Given the description of an element on the screen output the (x, y) to click on. 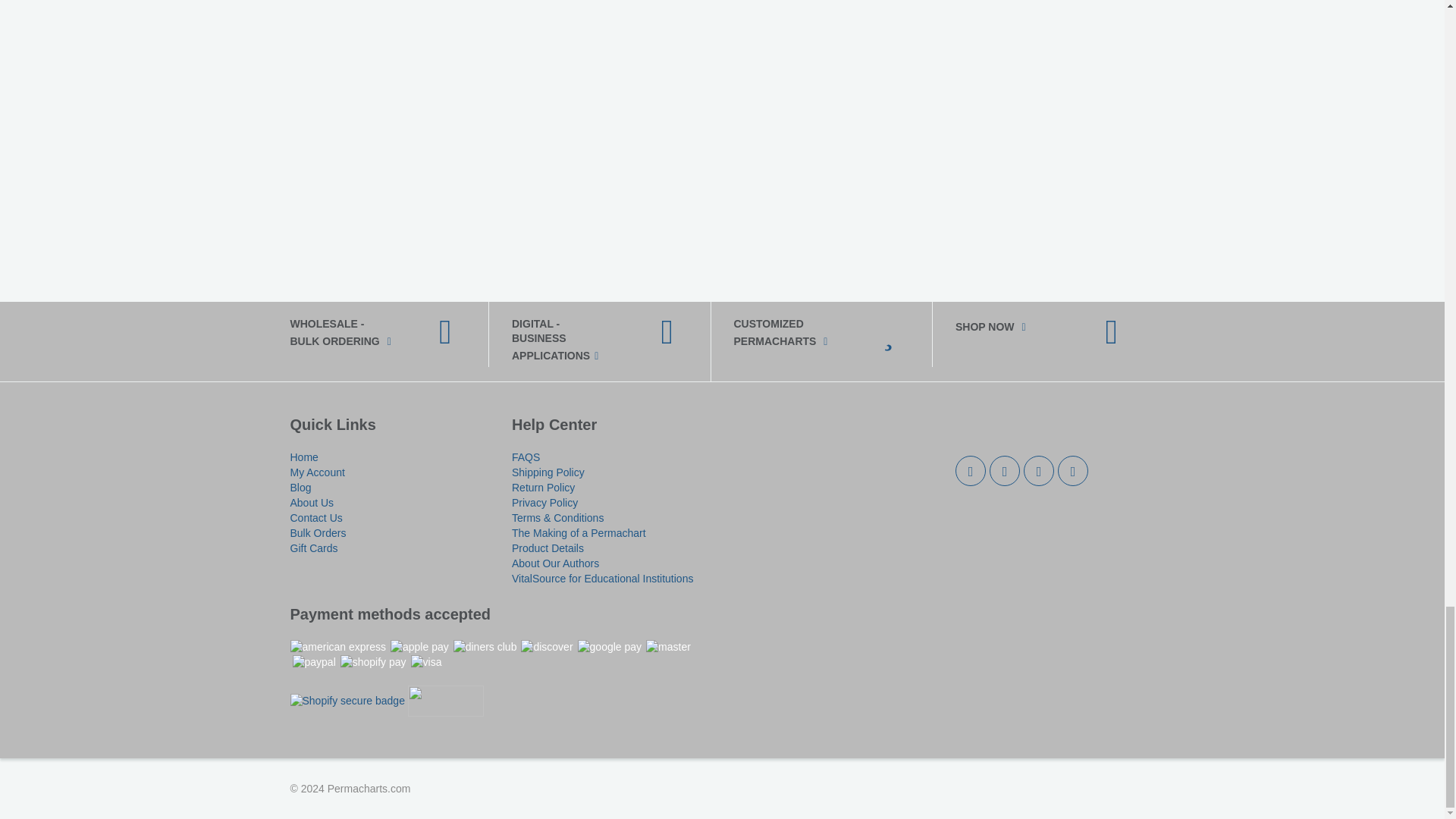
Facebook (1005, 470)
This online store is secured by Shopify (346, 700)
Pinterest (1038, 470)
Pinterest (1072, 470)
Twitter (970, 470)
